Given the description of an element on the screen output the (x, y) to click on. 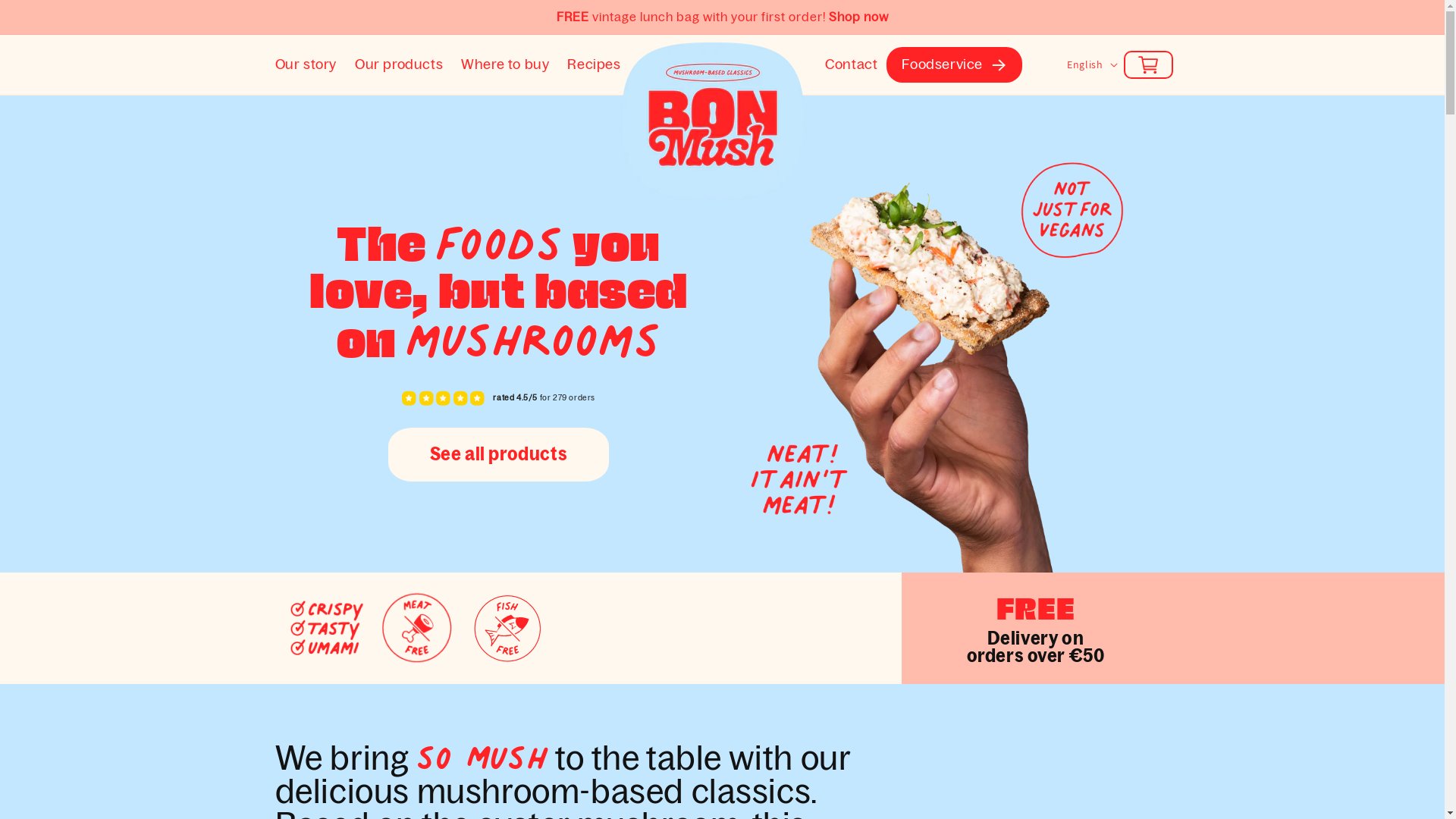
Our products Element type: text (398, 64)
Recipes Element type: text (593, 64)
See all products Element type: text (498, 454)
Our story Element type: text (305, 64)
Where to buy Element type: text (504, 64)
Foodservice Element type: text (941, 64)
English Element type: text (1090, 64)
Contact Element type: text (850, 64)
Cart Element type: text (1148, 64)
